Given the description of an element on the screen output the (x, y) to click on. 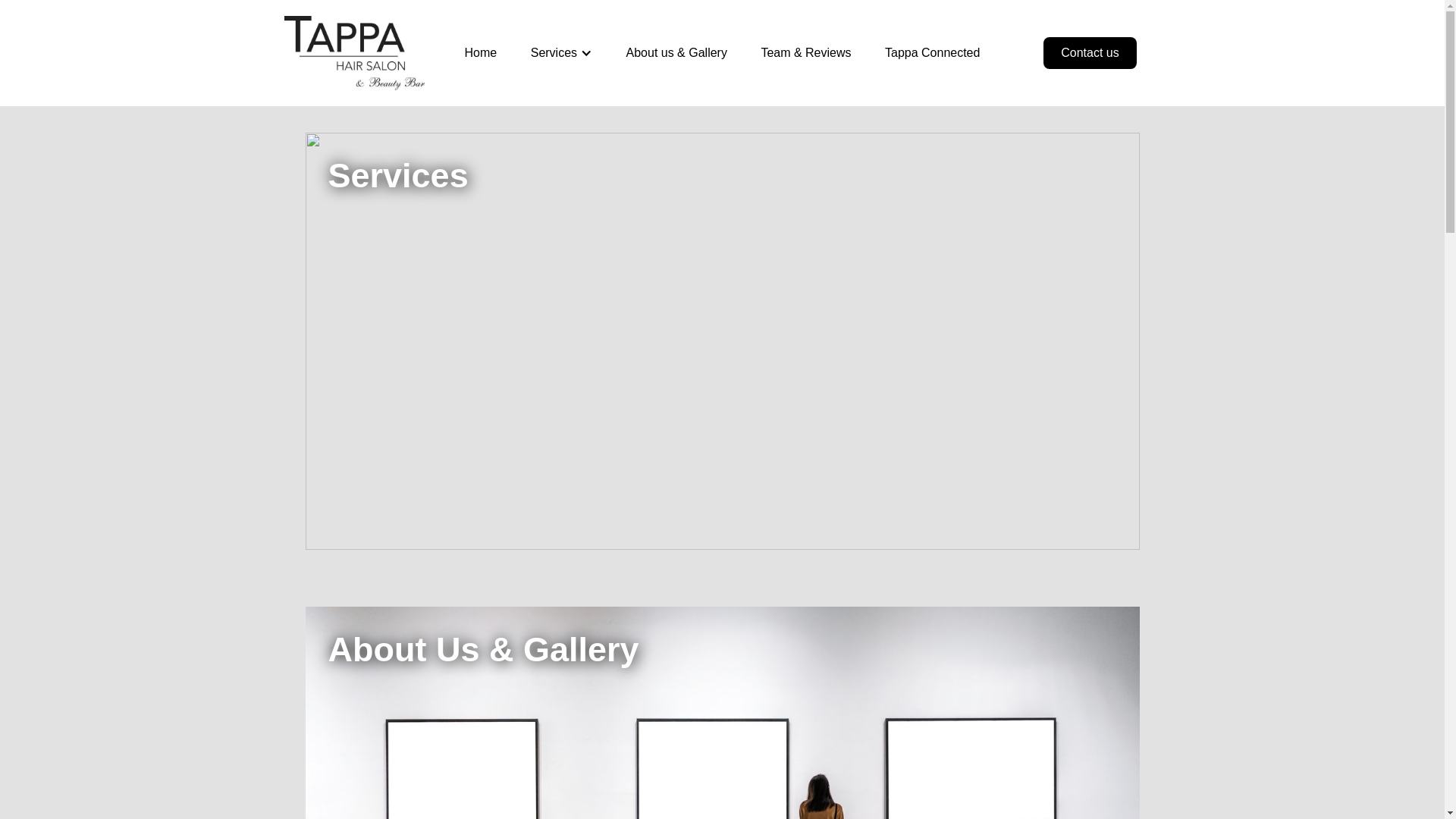
Tappa Connected (931, 52)
Home (480, 52)
Contact us (1089, 52)
